Given the description of an element on the screen output the (x, y) to click on. 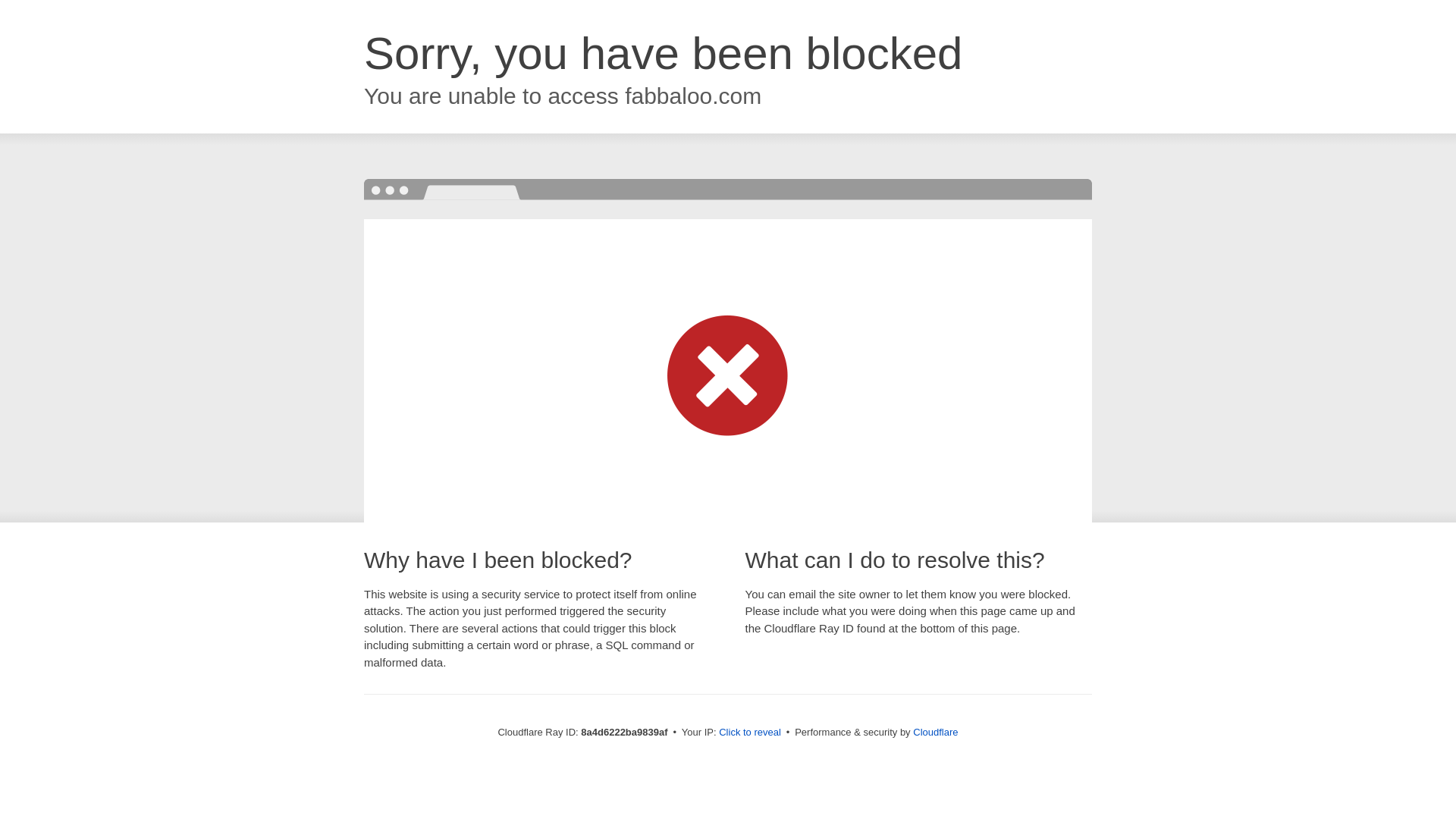
Cloudflare (935, 731)
Click to reveal (749, 732)
